Given the description of an element on the screen output the (x, y) to click on. 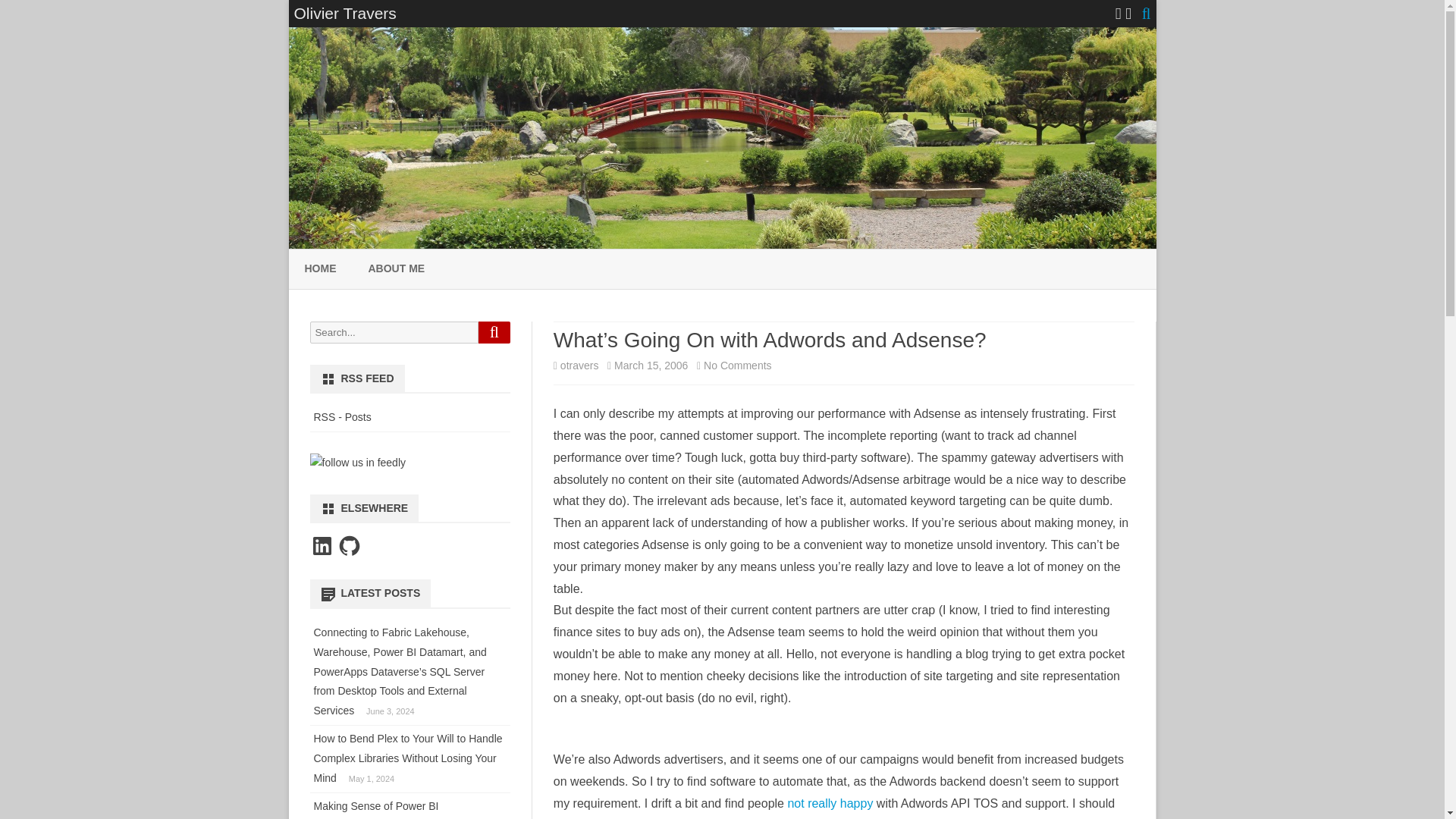
GitHub (349, 545)
not really happy (829, 802)
Search (495, 332)
Search for: (392, 332)
RSS - Posts (342, 417)
LinkedIn (320, 545)
otravers (579, 365)
